Given the description of an element on the screen output the (x, y) to click on. 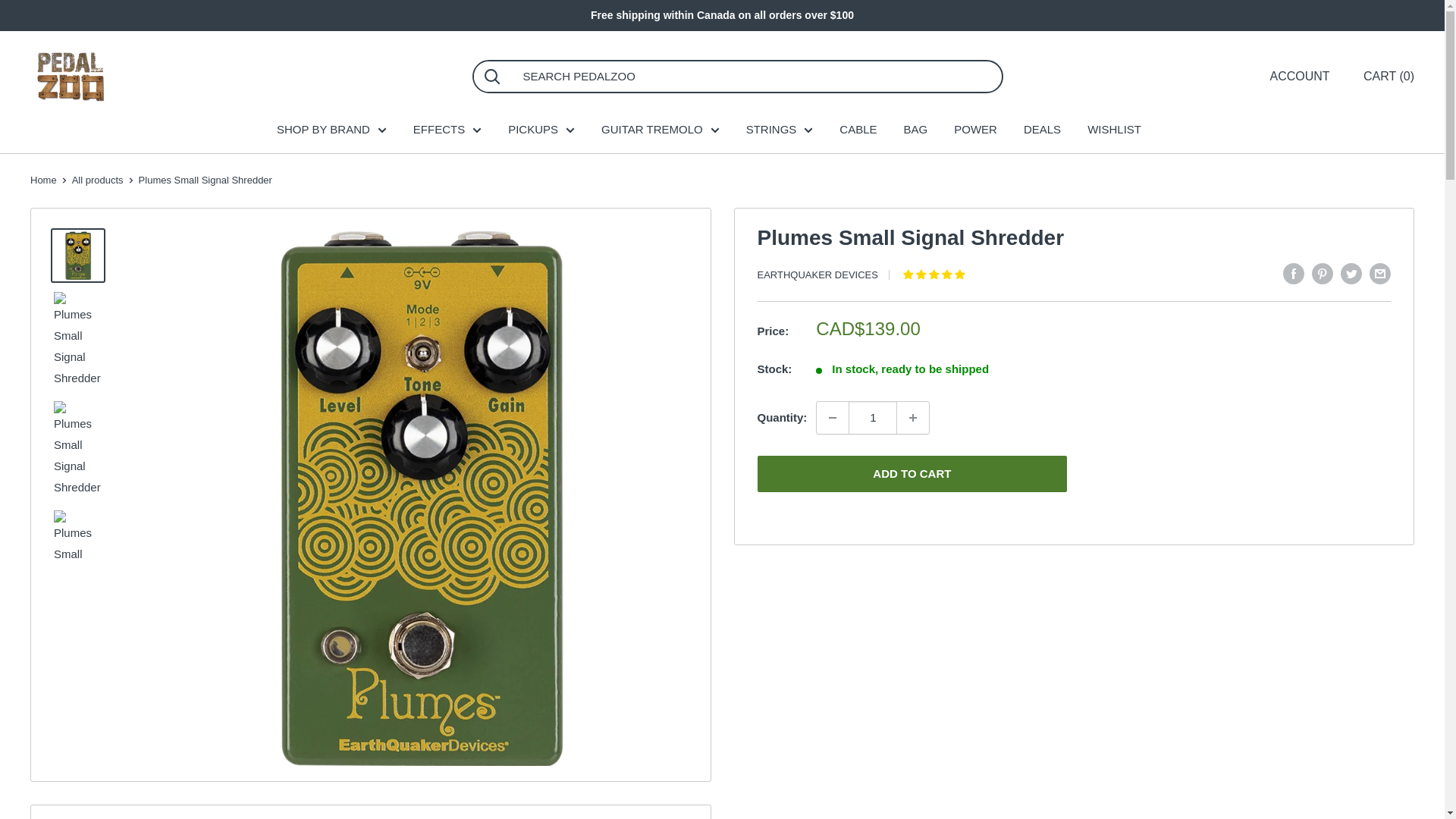
Increase quantity by 1 (912, 418)
Decrease quantity by 1 (832, 418)
1 (872, 418)
